Given the description of an element on the screen output the (x, y) to click on. 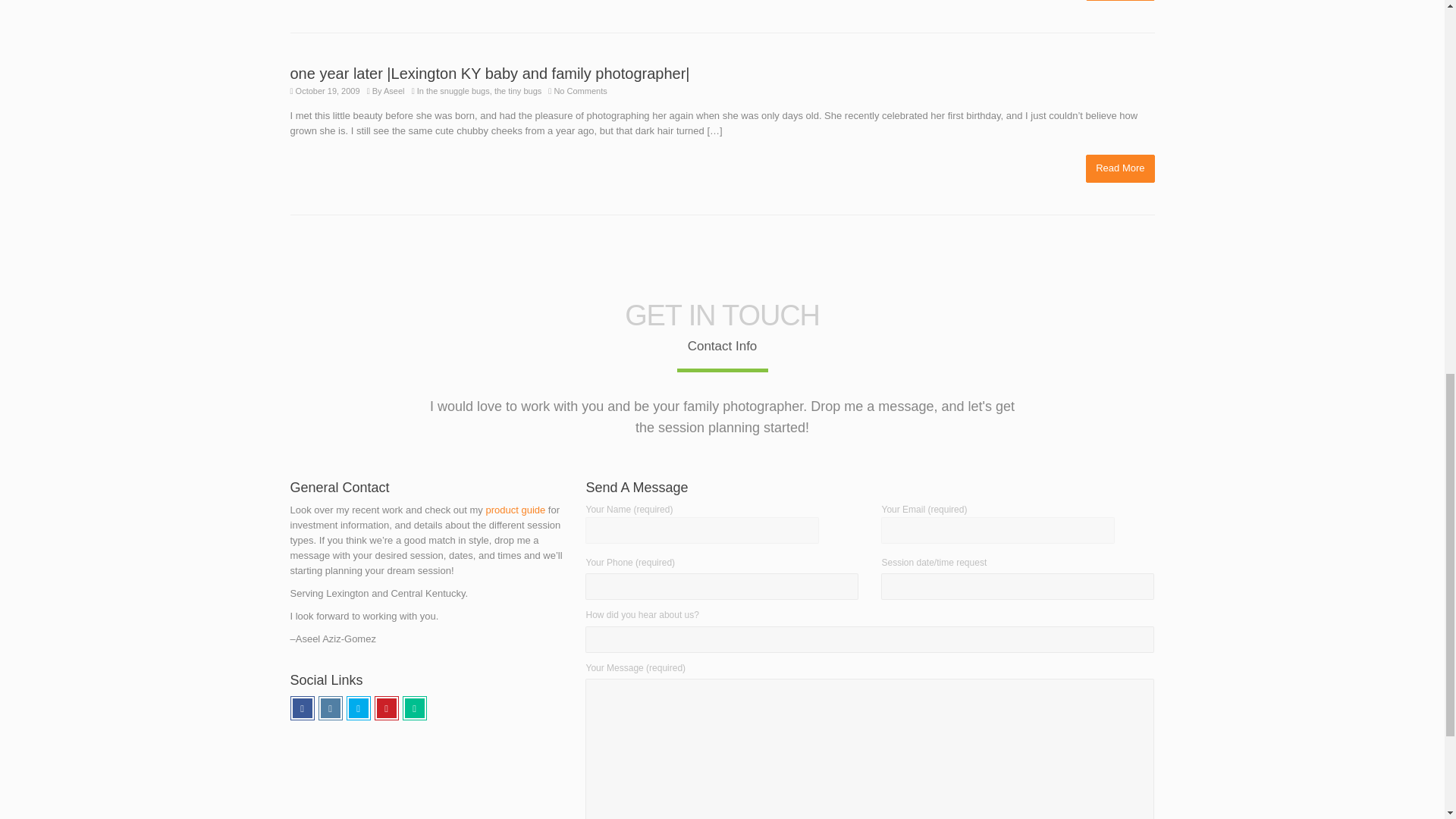
Posts by Aseel (394, 90)
Read More (1120, 168)
Aseel (394, 90)
the tiny bugs (518, 90)
the snuggle bugs (457, 90)
Read More (1120, 0)
